Given the description of an element on the screen output the (x, y) to click on. 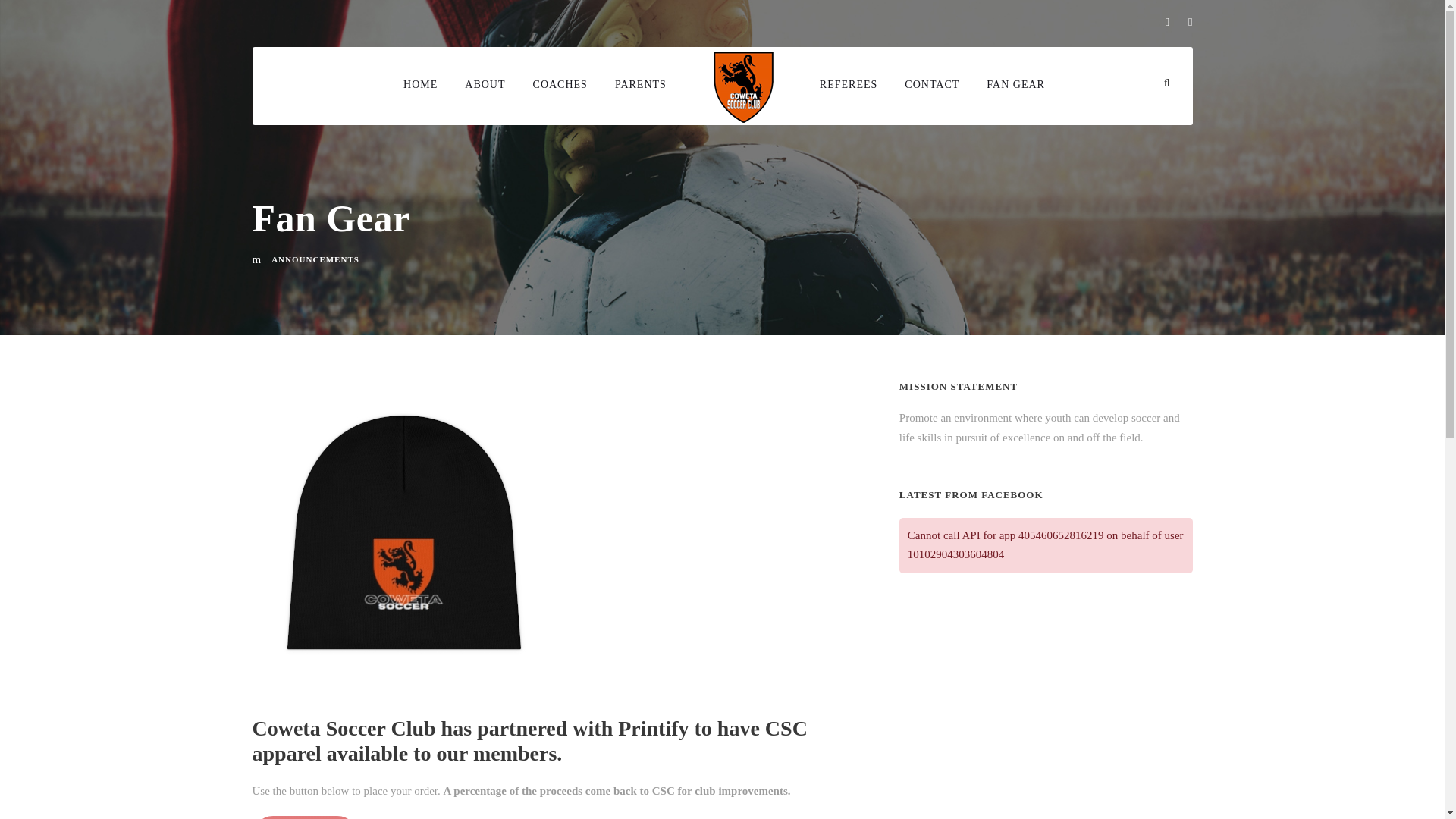
CSC-logo-sm (743, 85)
baby beanie (402, 531)
